Given the description of an element on the screen output the (x, y) to click on. 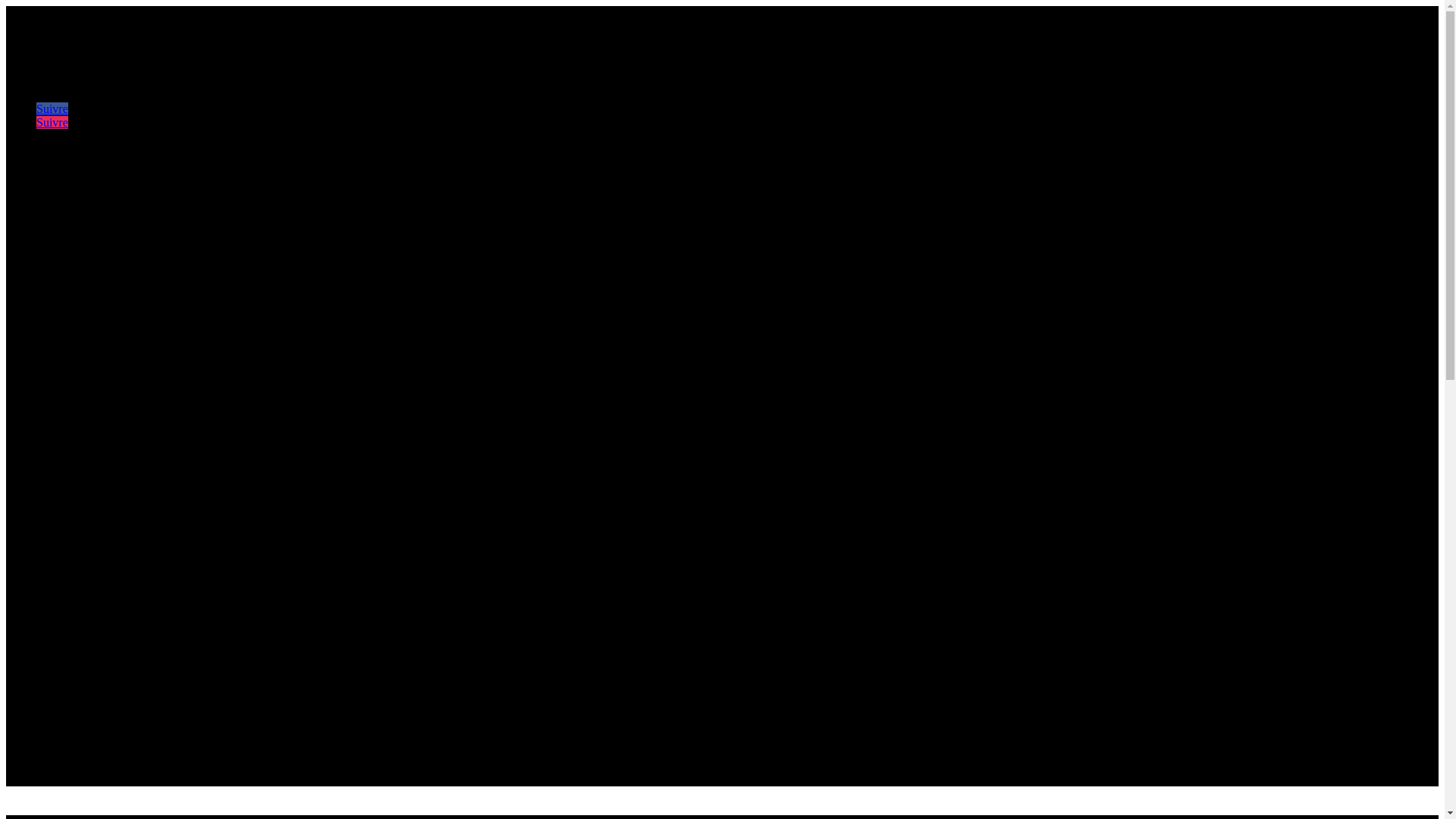
Suivre Element type: text (52, 108)
Suivre Element type: text (52, 122)
